Given the description of an element on the screen output the (x, y) to click on. 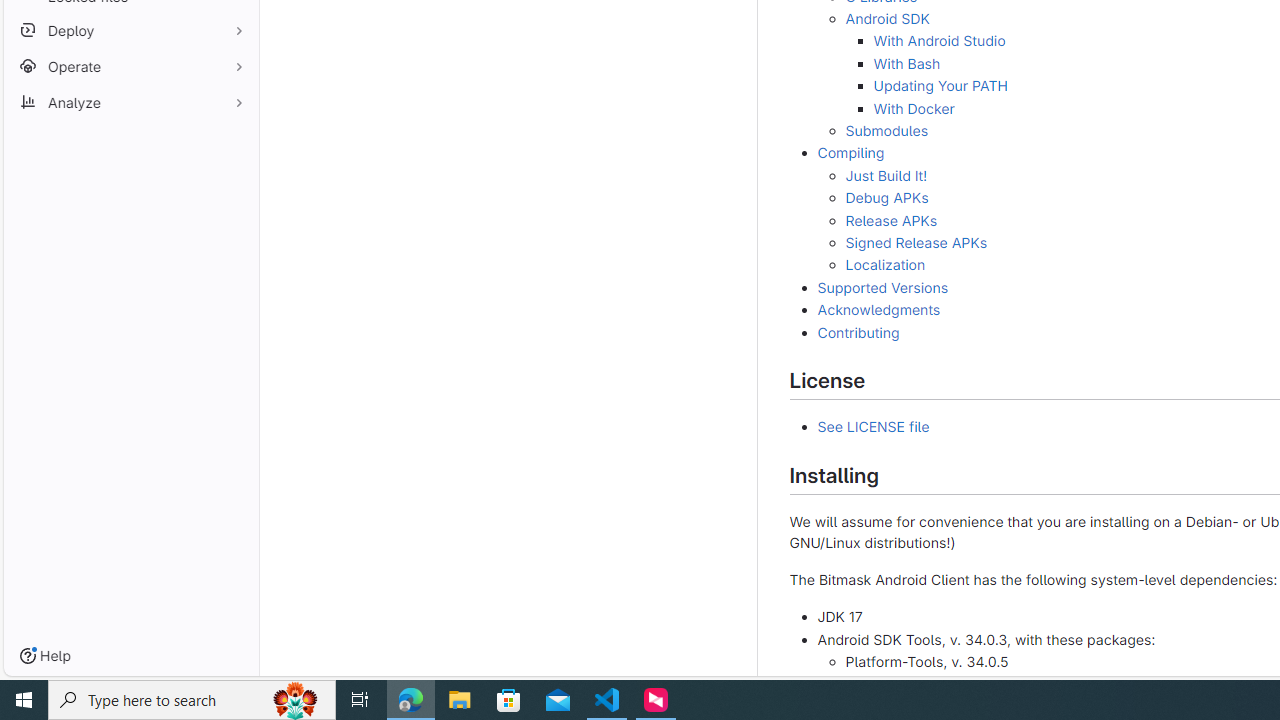
Contributing (857, 332)
With Bash (906, 63)
Android SDK (887, 19)
Operate (130, 65)
Compiling (850, 153)
Localization (884, 265)
Release APKs (891, 219)
With Docker (913, 107)
